Given the description of an element on the screen output the (x, y) to click on. 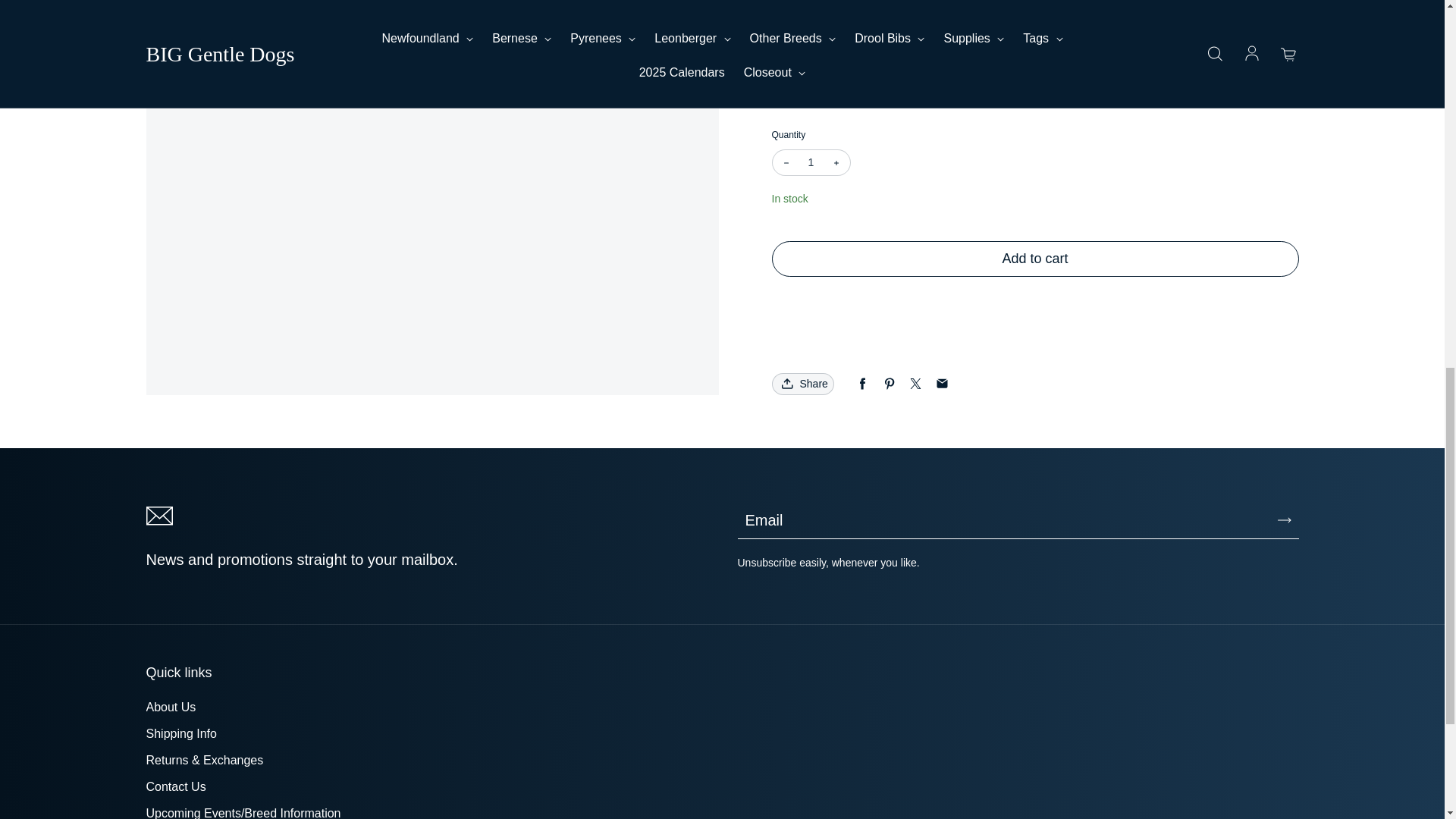
1 (810, 162)
